Given the description of an element on the screen output the (x, y) to click on. 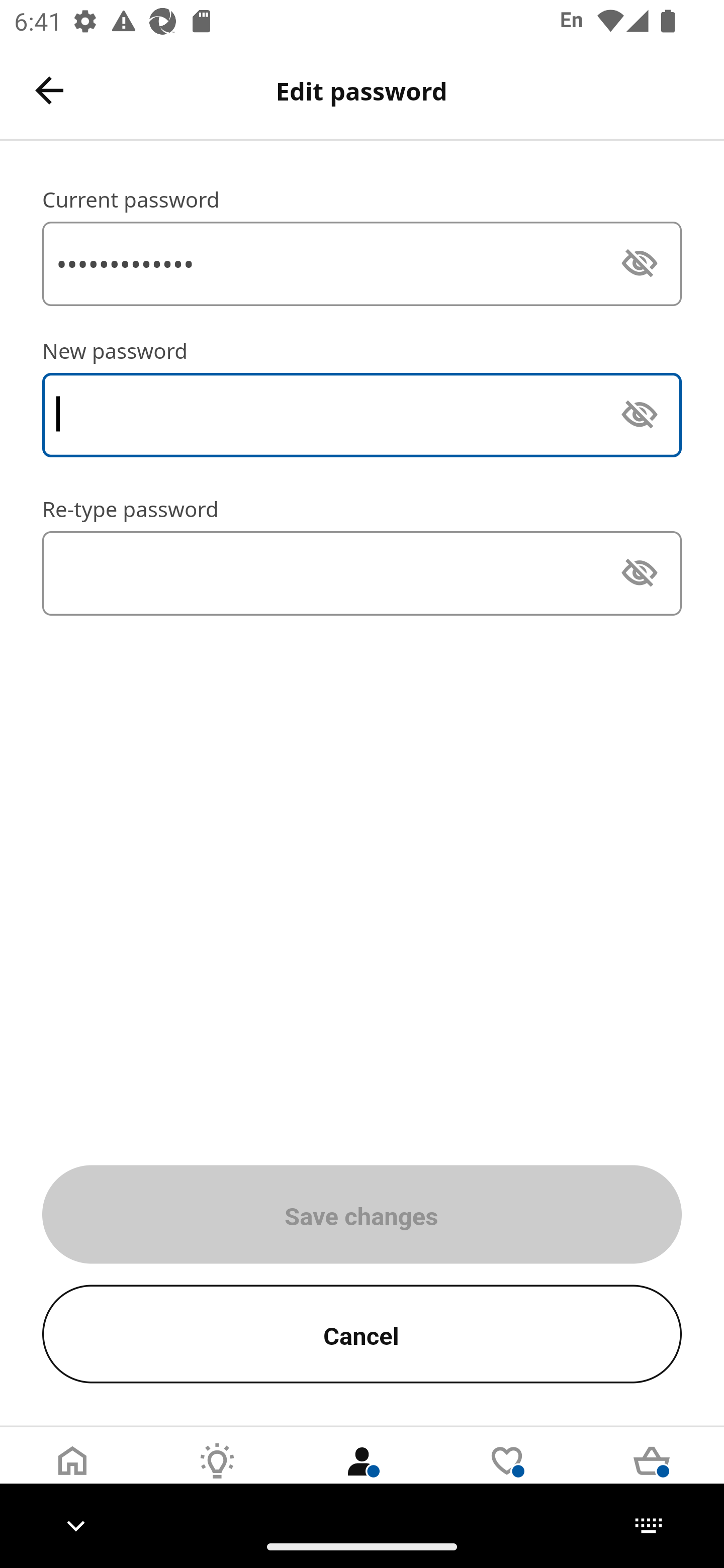
••••••••••••• (361, 263)
Save changes (361, 1214)
Cancel (361, 1333)
Home
Tab 1 of 5 (72, 1476)
Inspirations
Tab 2 of 5 (216, 1476)
User
Tab 3 of 5 (361, 1476)
Wishlist
Tab 4 of 5 (506, 1476)
Cart
Tab 5 of 5 (651, 1476)
